Given the description of an element on the screen output the (x, y) to click on. 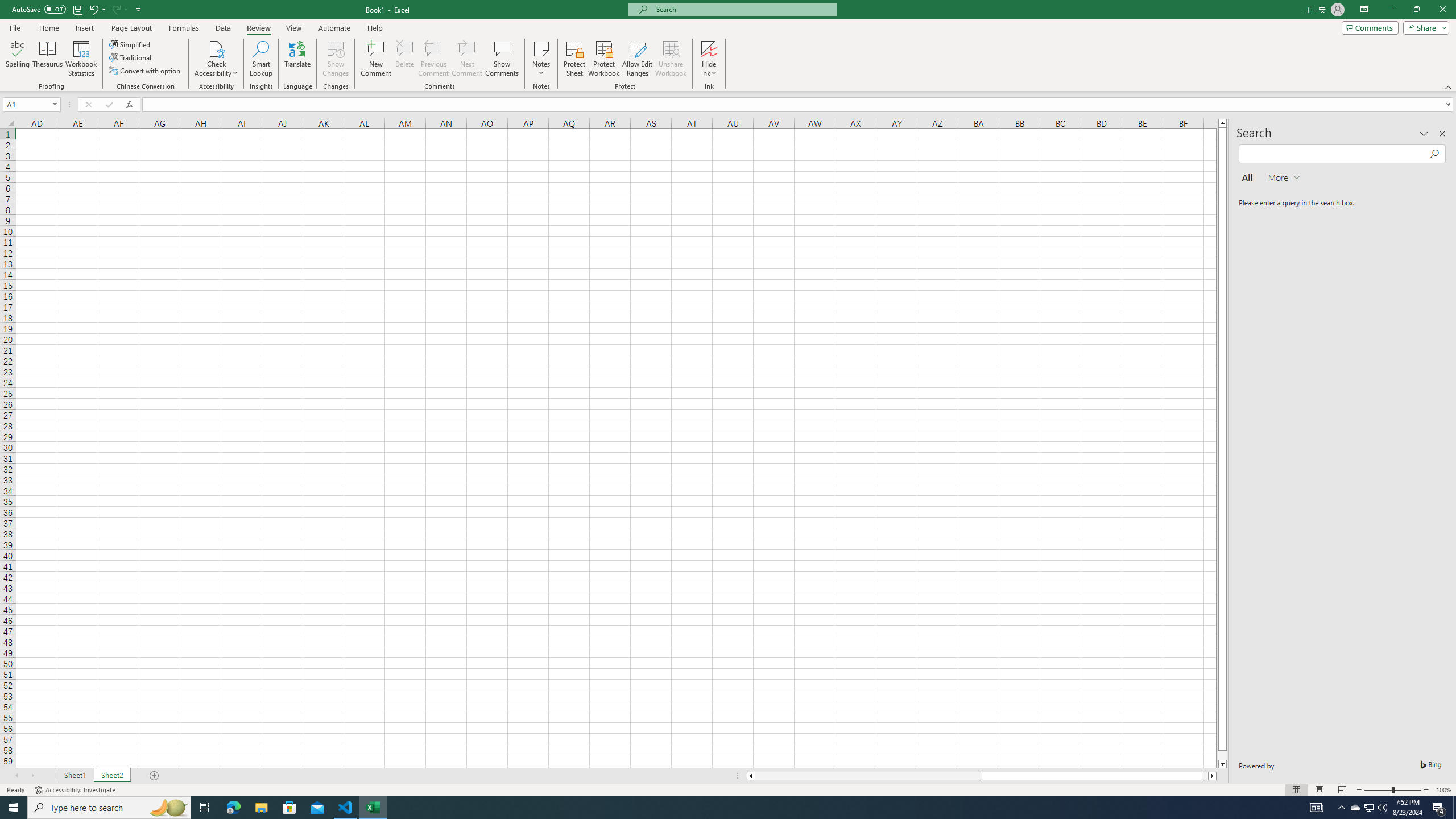
Sheet2 (112, 775)
Simplified (130, 44)
Previous Comment (432, 58)
Convert with option (145, 69)
Unshare Workbook (670, 58)
Notes (541, 58)
